Given the description of an element on the screen output the (x, y) to click on. 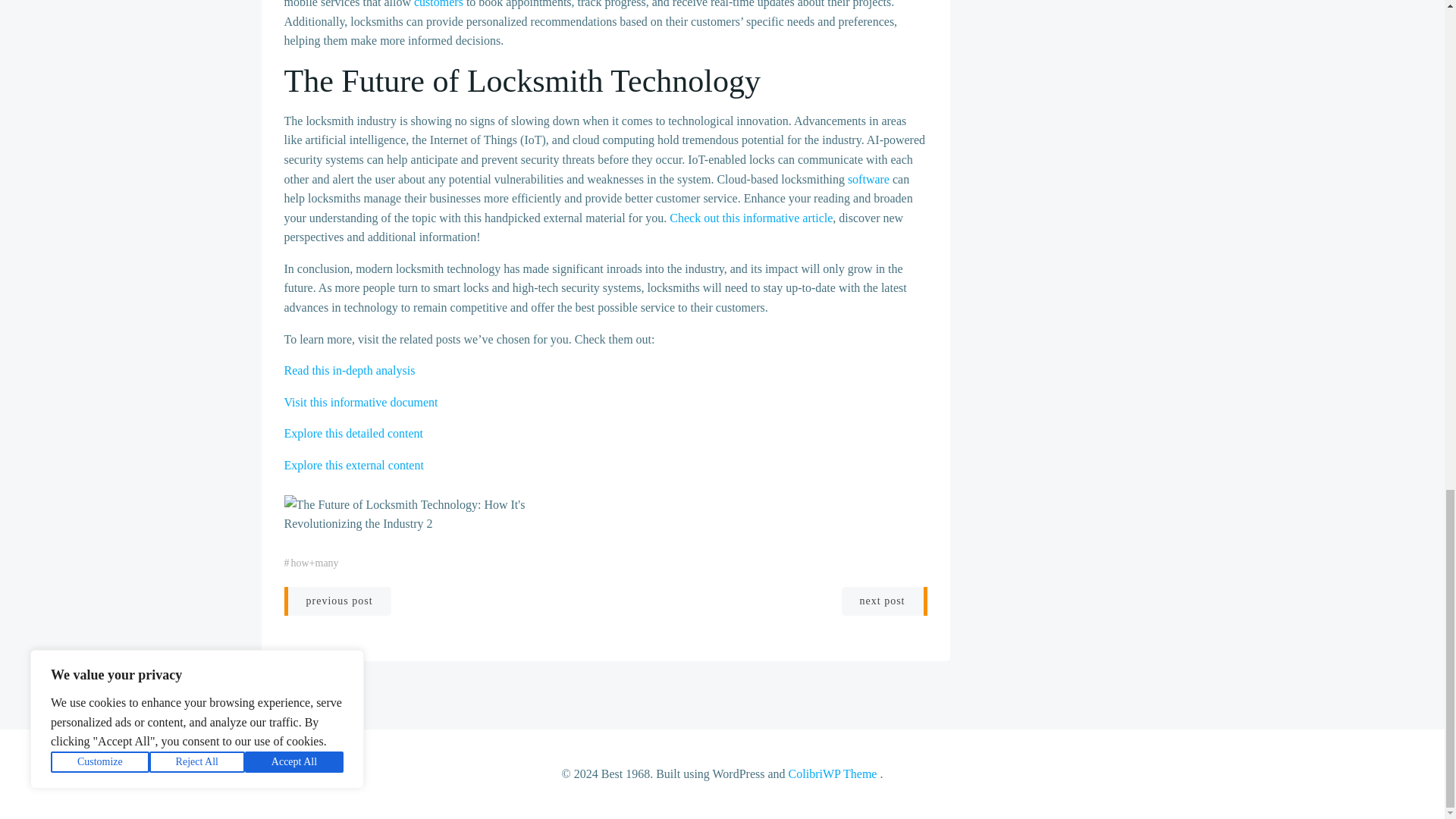
previous post (336, 601)
Read this in-depth analysis (348, 369)
software (868, 178)
customers (438, 4)
Visit this informative document (360, 401)
Check out this informative article (750, 217)
next post (884, 601)
Explore this detailed content (353, 432)
Explore this external content (353, 464)
